Given the description of an element on the screen output the (x, y) to click on. 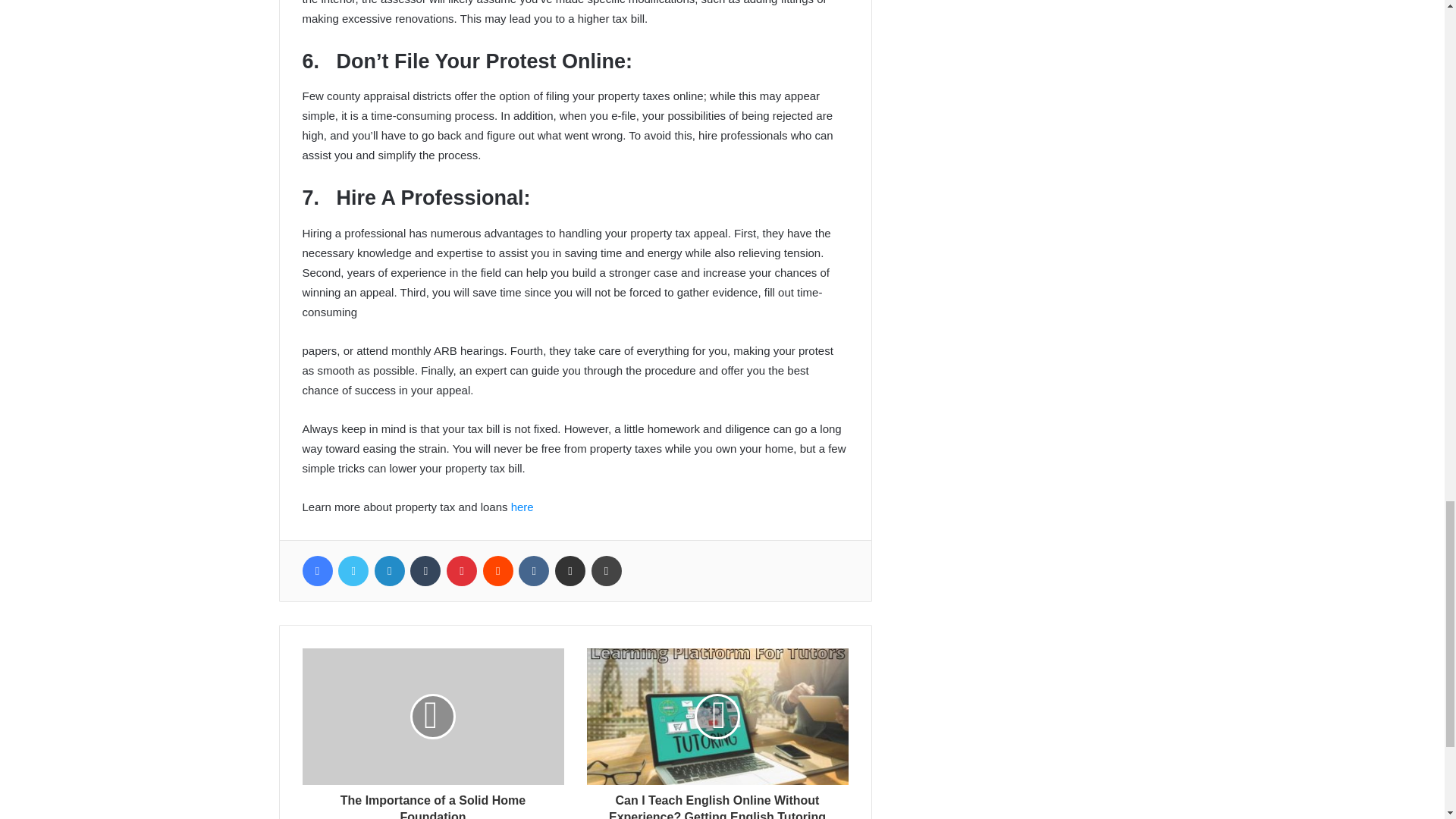
LinkedIn (389, 571)
Twitter (352, 571)
Pinterest (461, 571)
Tumblr (425, 571)
LinkedIn (389, 571)
Tumblr (425, 571)
Facebook (316, 571)
Reddit (498, 571)
VKontakte (533, 571)
Twitter (352, 571)
